Given the description of an element on the screen output the (x, y) to click on. 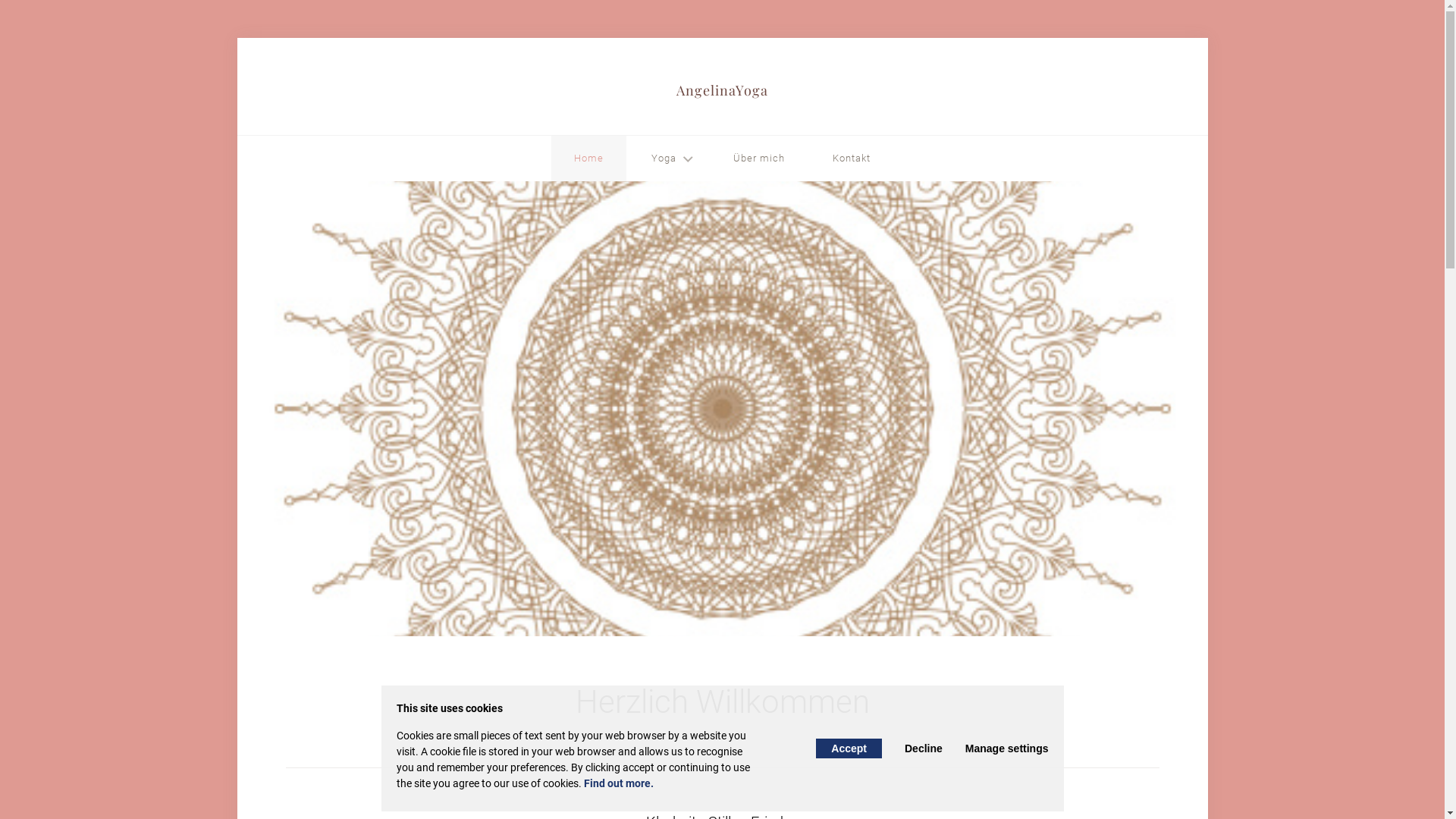
Manage settings Element type: text (1006, 748)
Find out more. Element type: text (618, 783)
Accept Element type: text (848, 748)
Home Element type: text (588, 158)
Kontakt Element type: text (851, 158)
Decline Element type: text (923, 748)
AngelinaYoga Element type: text (722, 93)
